Given the description of an element on the screen output the (x, y) to click on. 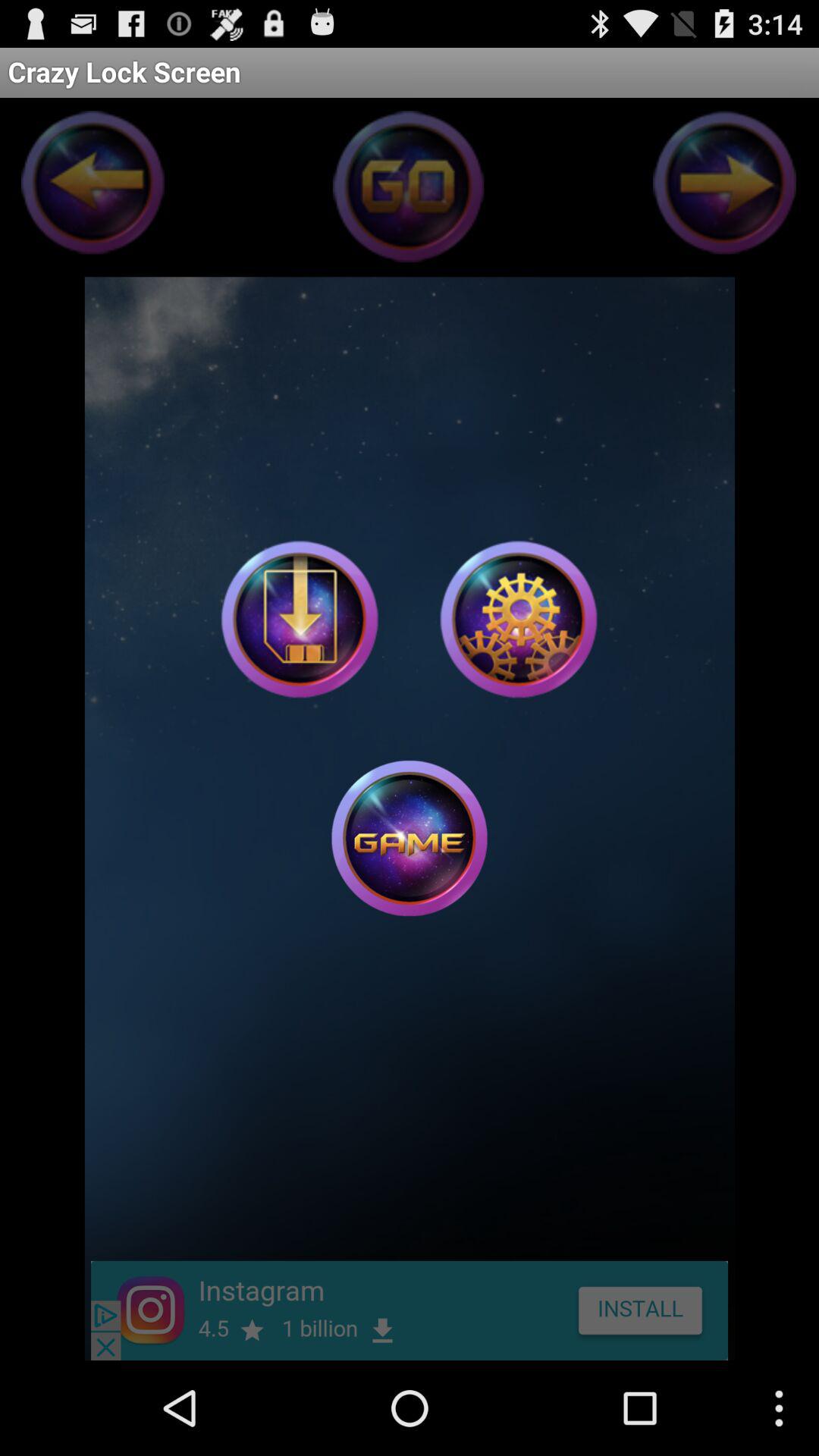
play game (409, 837)
